Given the description of an element on the screen output the (x, y) to click on. 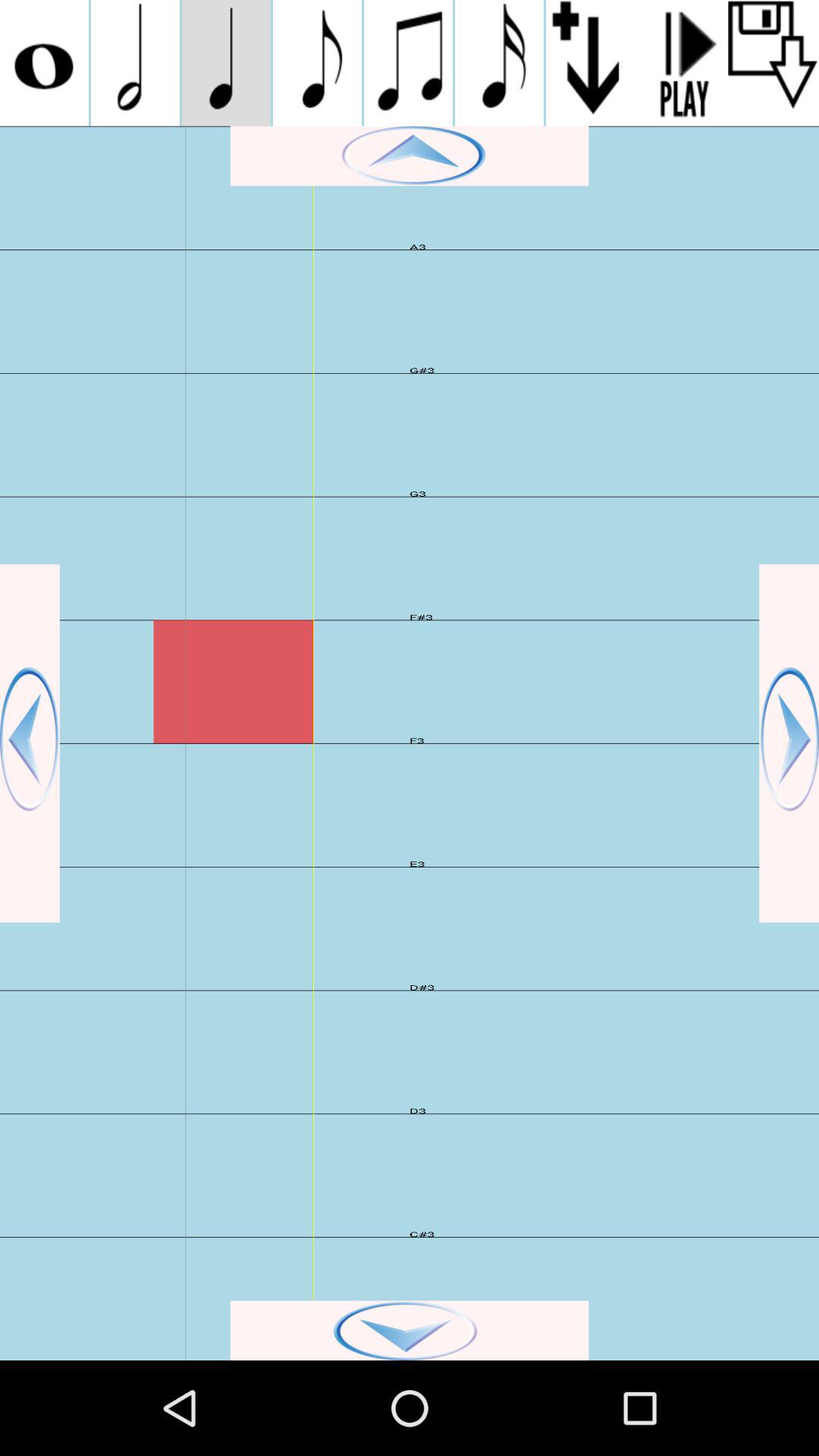
add musical note (499, 63)
